Given the description of an element on the screen output the (x, y) to click on. 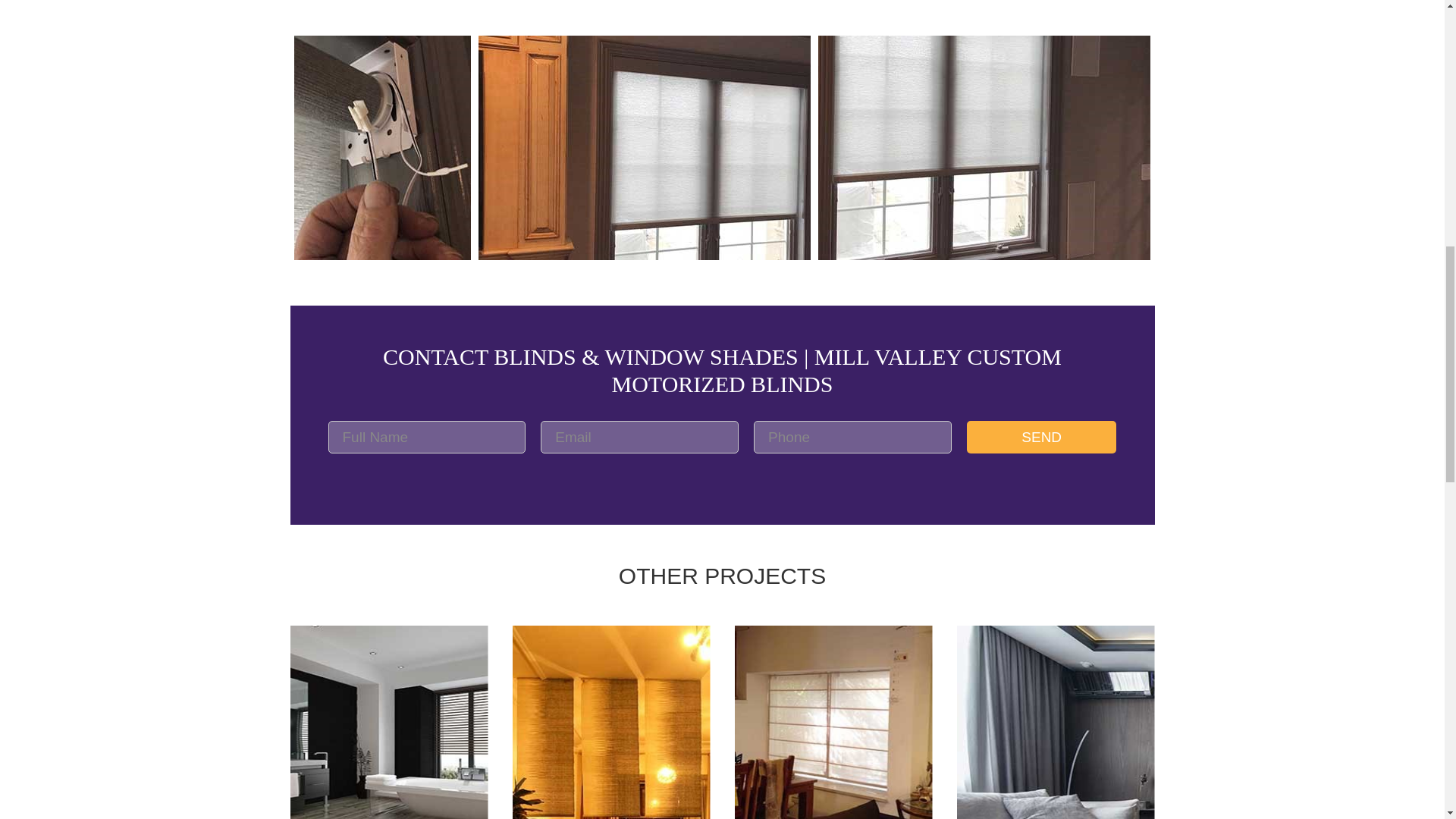
SEND (1041, 436)
